Given the description of an element on the screen output the (x, y) to click on. 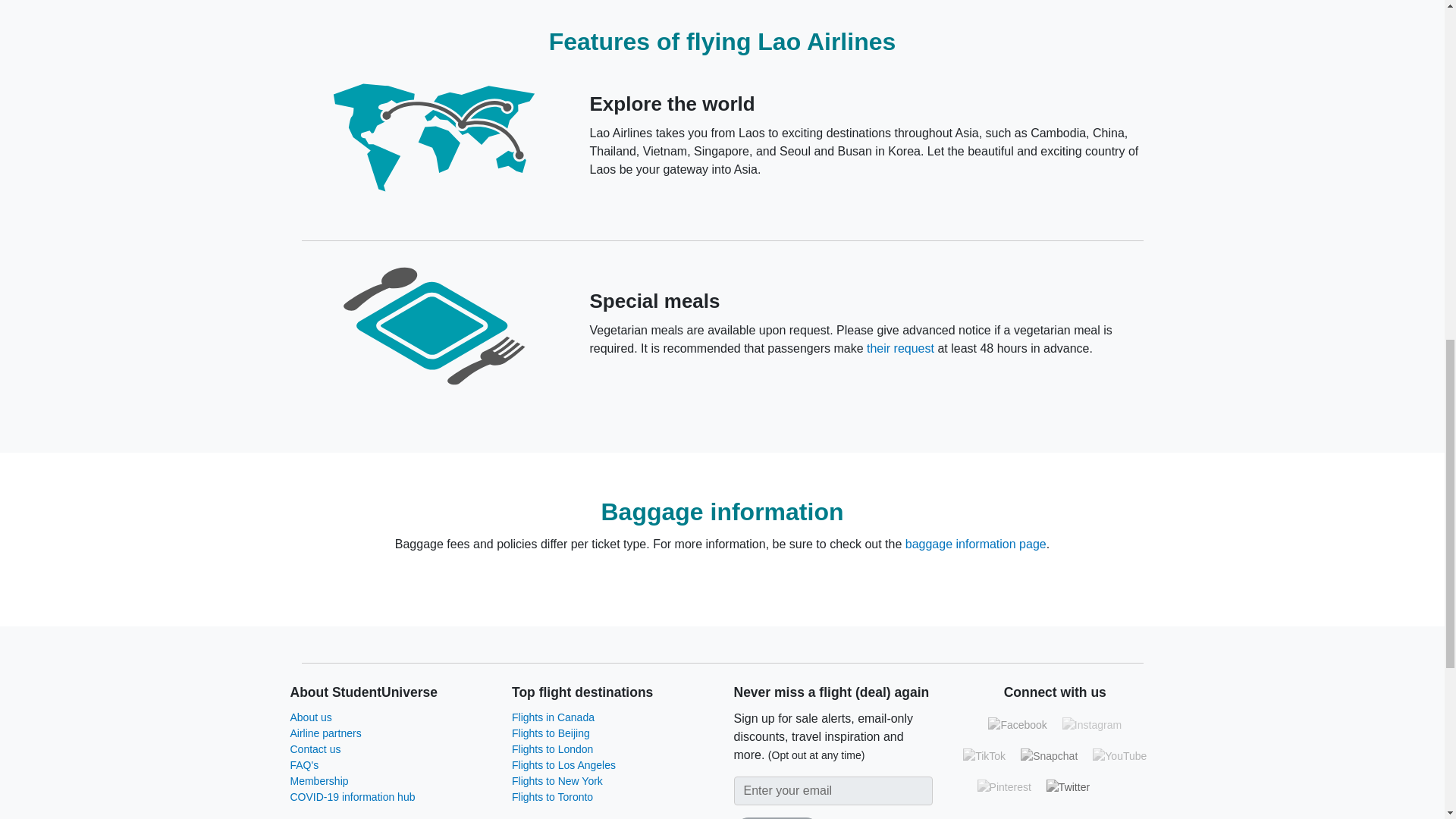
baggage information page (975, 543)
Flights in Canada (553, 717)
Flights to Los Angeles (563, 765)
Flights to Toronto (552, 797)
Contact us (314, 748)
COVID-19 information hub (351, 797)
Flights to Beijing (550, 733)
Flights to London (552, 748)
About us (310, 717)
Membership (318, 780)
